Given the description of an element on the screen output the (x, y) to click on. 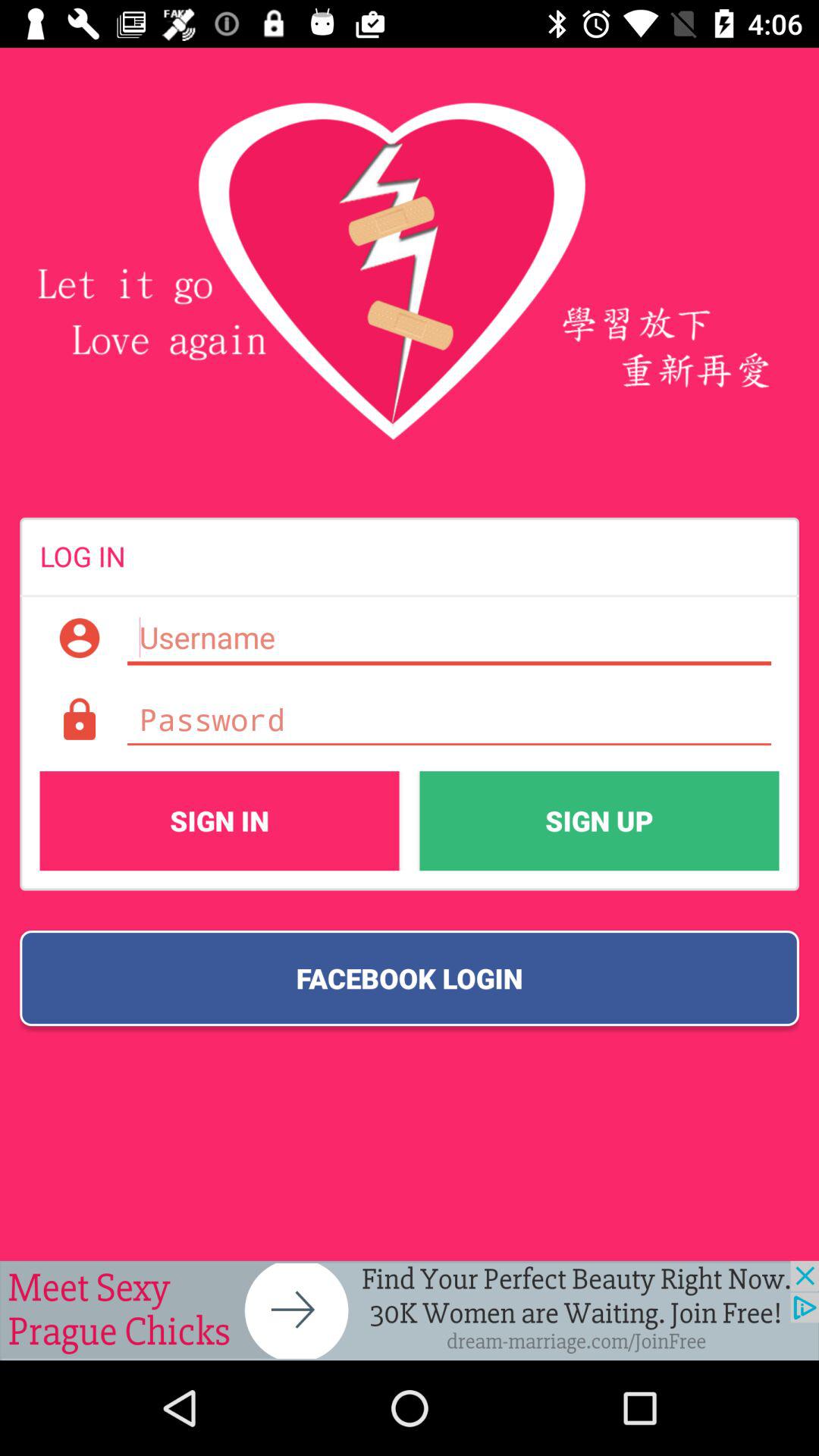
enter user name (449, 638)
